Given the description of an element on the screen output the (x, y) to click on. 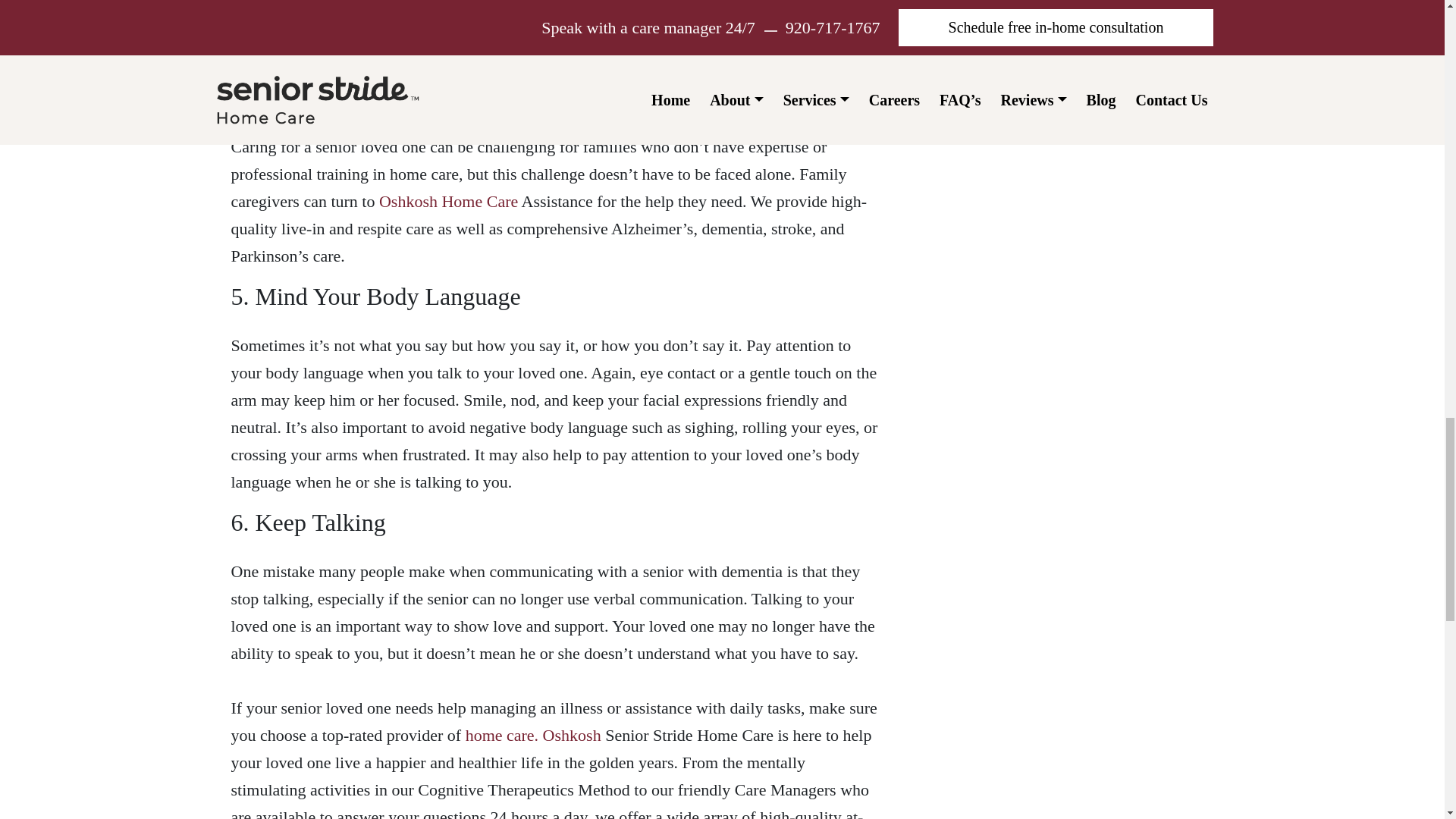
Oshkosh Home Care (448, 200)
home care. Oshkosh (533, 734)
